Given the description of an element on the screen output the (x, y) to click on. 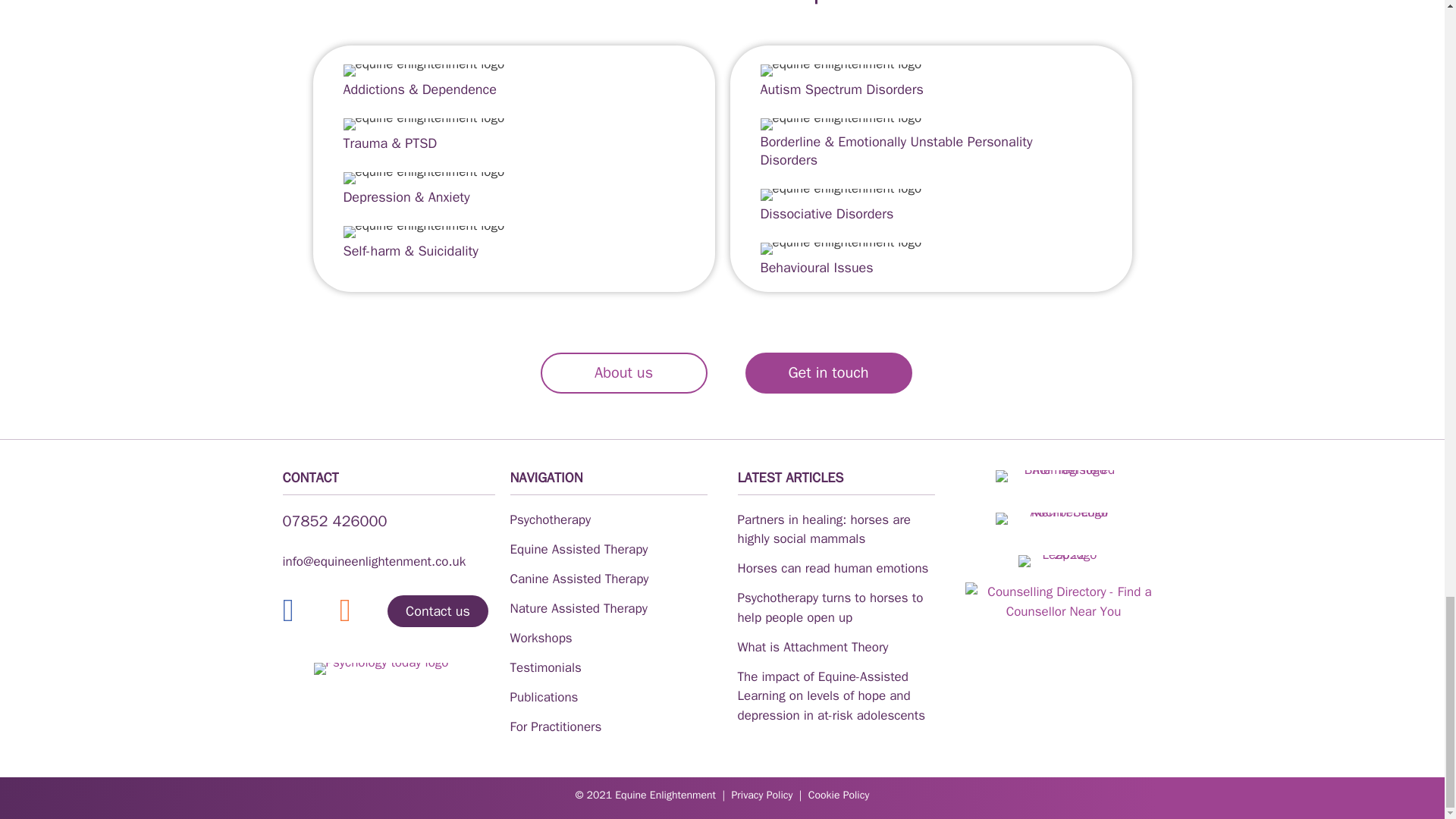
equine enlightenment separator 150 (422, 177)
Psychotherapy (550, 519)
equine enlightenment separator 150 (840, 248)
equine enlightenment separator 150 (422, 232)
equine enlightenment separator 150 (840, 70)
Workshops (540, 637)
equine enlightenment separator 150 (840, 194)
Get in touch (827, 372)
About us (623, 372)
equine enlightenment separator 150 (422, 123)
